Given the description of an element on the screen output the (x, y) to click on. 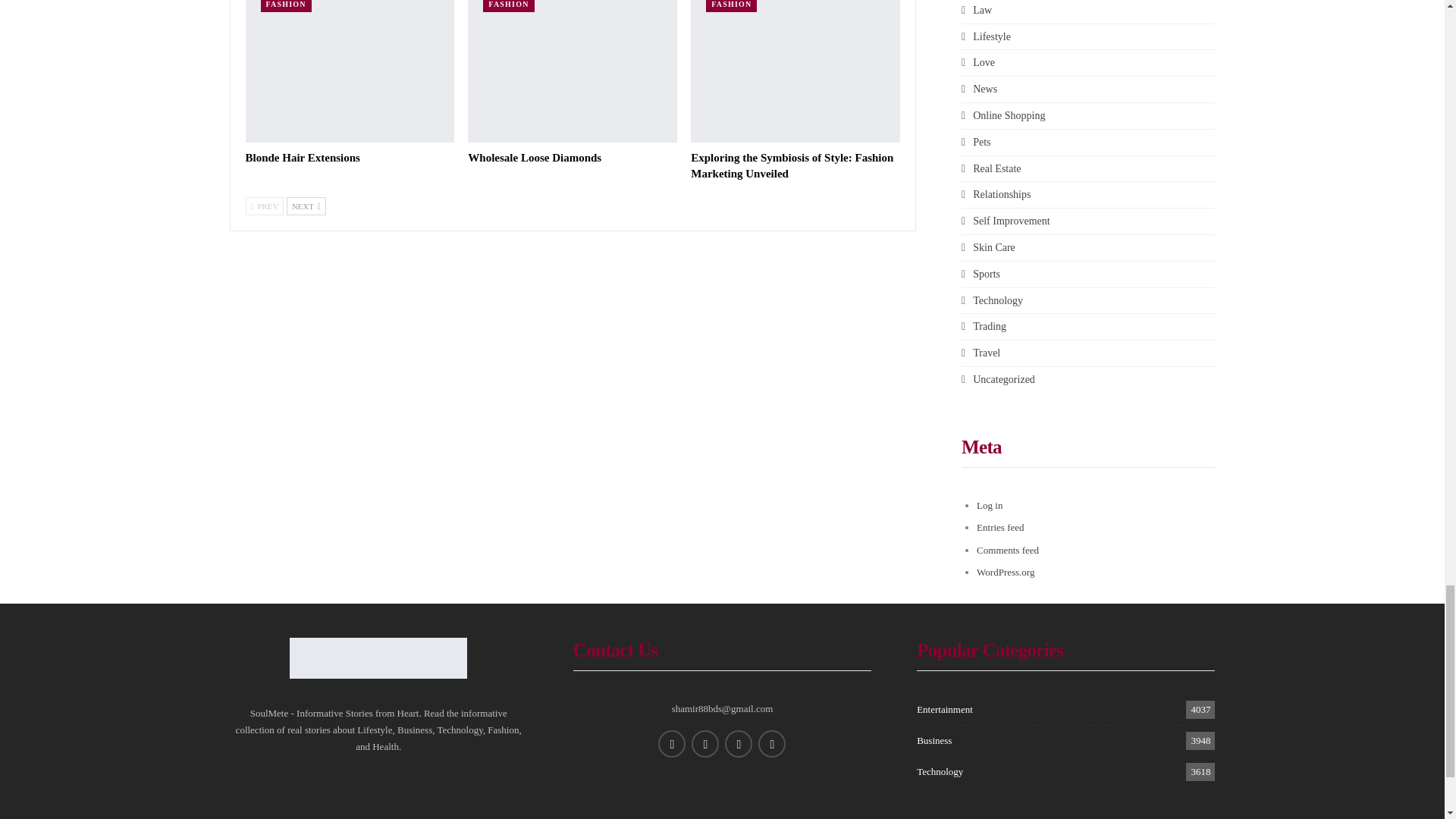
Exploring the Symbiosis of Style: Fashion Marketing Unveiled (794, 71)
Blonde Hair Extensions (302, 157)
Blonde Hair Extensions (350, 71)
Exploring the Symbiosis of Style: Fashion Marketing Unveiled (791, 165)
Wholesale Loose Diamonds (572, 71)
Wholesale Loose Diamonds (534, 157)
